Given the description of an element on the screen output the (x, y) to click on. 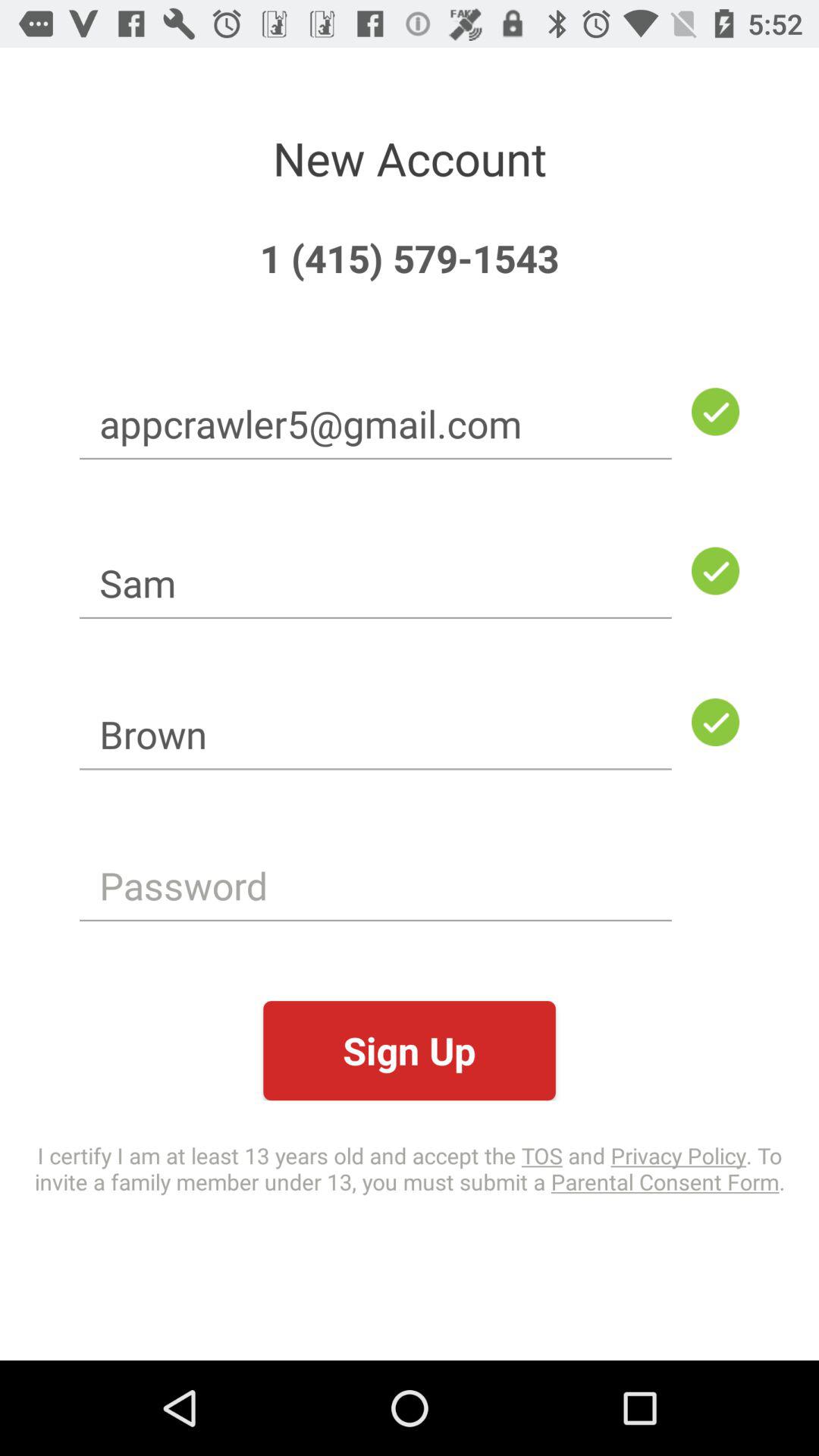
swipe until the brown item (375, 734)
